Given the description of an element on the screen output the (x, y) to click on. 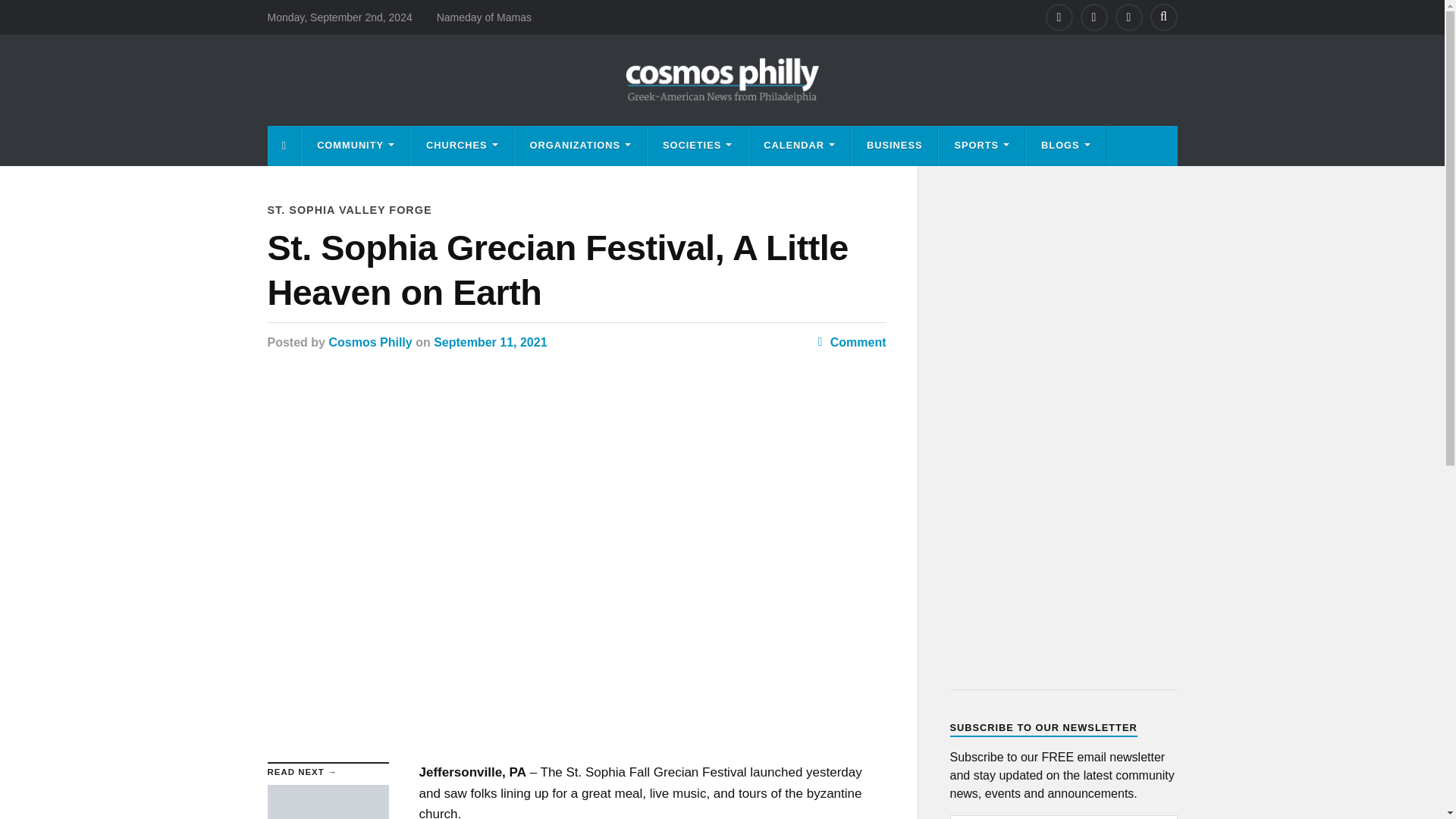
ORGANIZATIONS (580, 146)
COSMOS PHILLY - GREEK AMERICAN NEWS FROM PHILADELPHIA (722, 80)
Subscribe to our YouTube channel (1128, 17)
CHURCHES (461, 146)
SOCIETIES (696, 146)
Find us on Facebook (1058, 17)
Find us on Twitter (1093, 17)
COMMUNITY (355, 146)
